Given the description of an element on the screen output the (x, y) to click on. 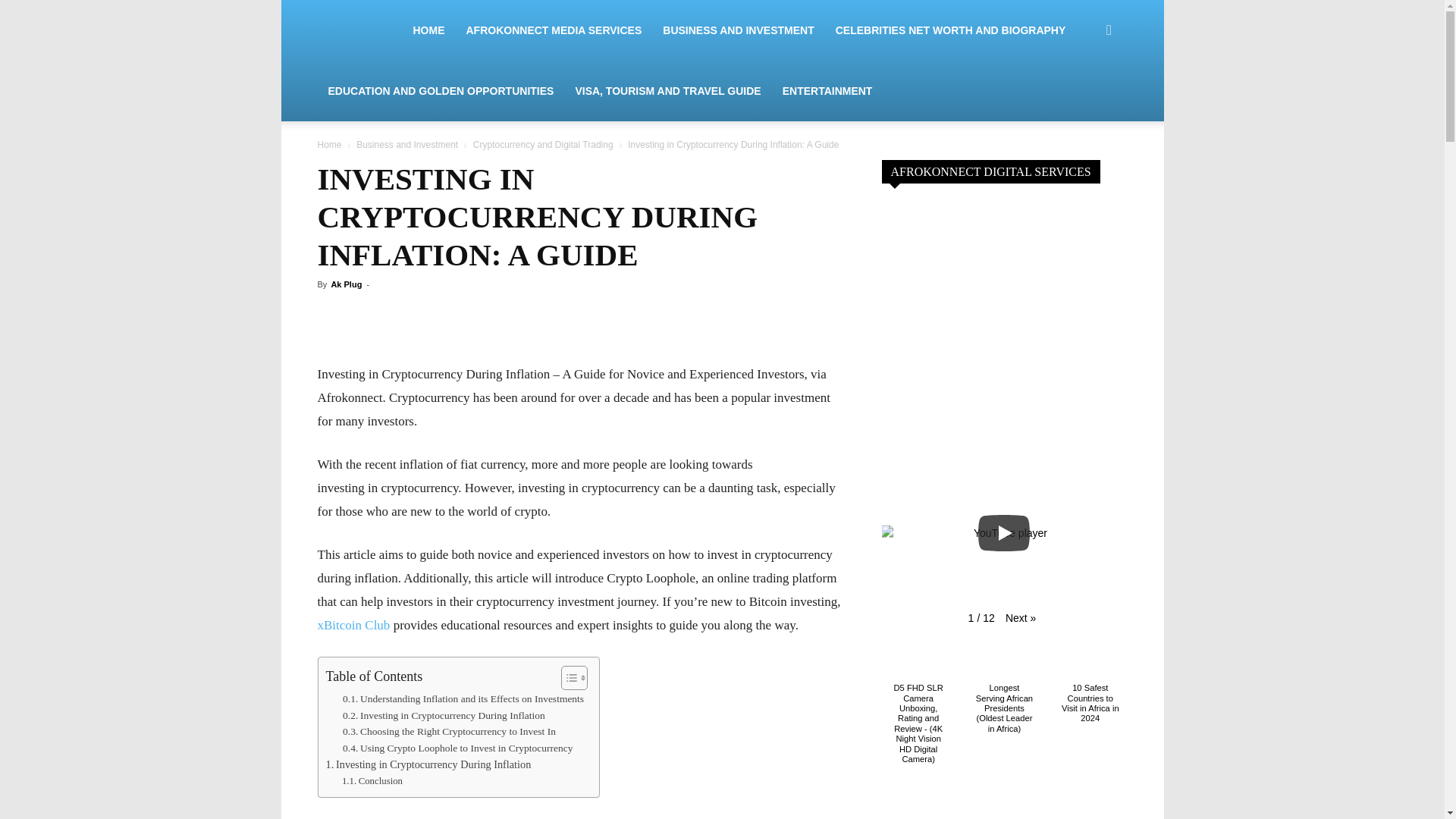
Search (1080, 102)
VISA, TOURISM AND TRAVEL GUIDE (667, 90)
Ak Plug (345, 284)
Afrokonnect (359, 30)
BUSINESS AND INVESTMENT (738, 30)
Business and Investment (407, 144)
AFROKONNECT MEDIA SERVICES (553, 30)
EDUCATION AND GOLDEN OPPORTUNITIES (440, 90)
Cryptocurrency and Digital Trading (542, 144)
ENTERTAINMENT (827, 90)
Afrokonnect Media Brand  (351, 30)
Home (328, 144)
CELEBRITIES NET WORTH AND BIOGRAPHY (951, 30)
